Given the description of an element on the screen output the (x, y) to click on. 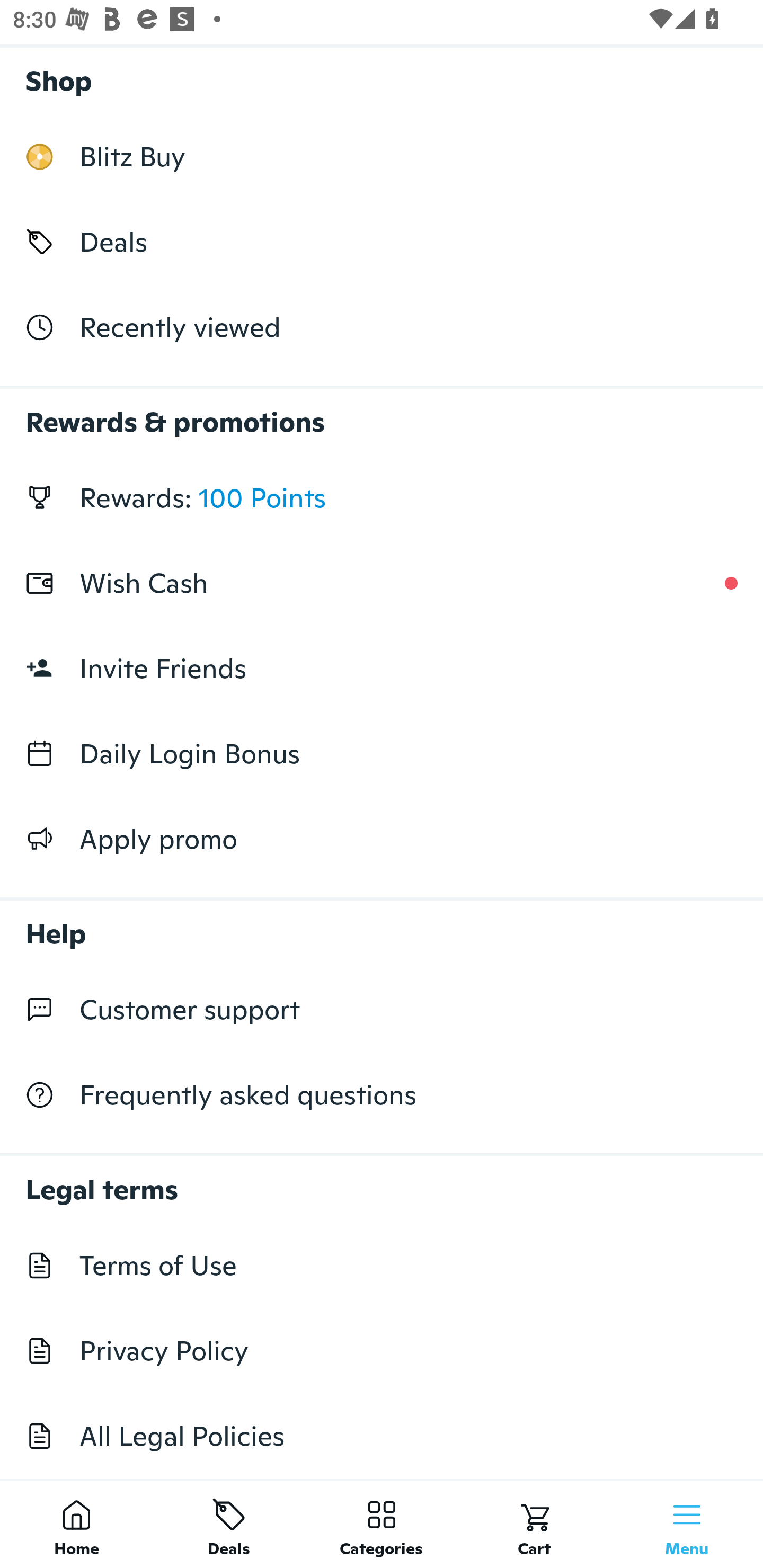
Shop (381, 75)
Blitz Buy (381, 156)
Deals (381, 242)
Recently viewed (381, 326)
Rewards & promotions (381, 413)
Rewards: 100 Points (381, 497)
Wish Cash (381, 582)
Invite Friends (381, 668)
Daily Login Bonus (381, 753)
Apply promo (381, 838)
Help (381, 924)
Customer support (381, 1009)
Frequently asked questions (381, 1095)
Legal terms (381, 1179)
Terms of Use (381, 1265)
Privacy Policy (381, 1350)
All Legal Policies (381, 1435)
Home (76, 1523)
Deals (228, 1523)
Categories (381, 1523)
Cart (533, 1523)
Menu (686, 1523)
